Given the description of an element on the screen output the (x, y) to click on. 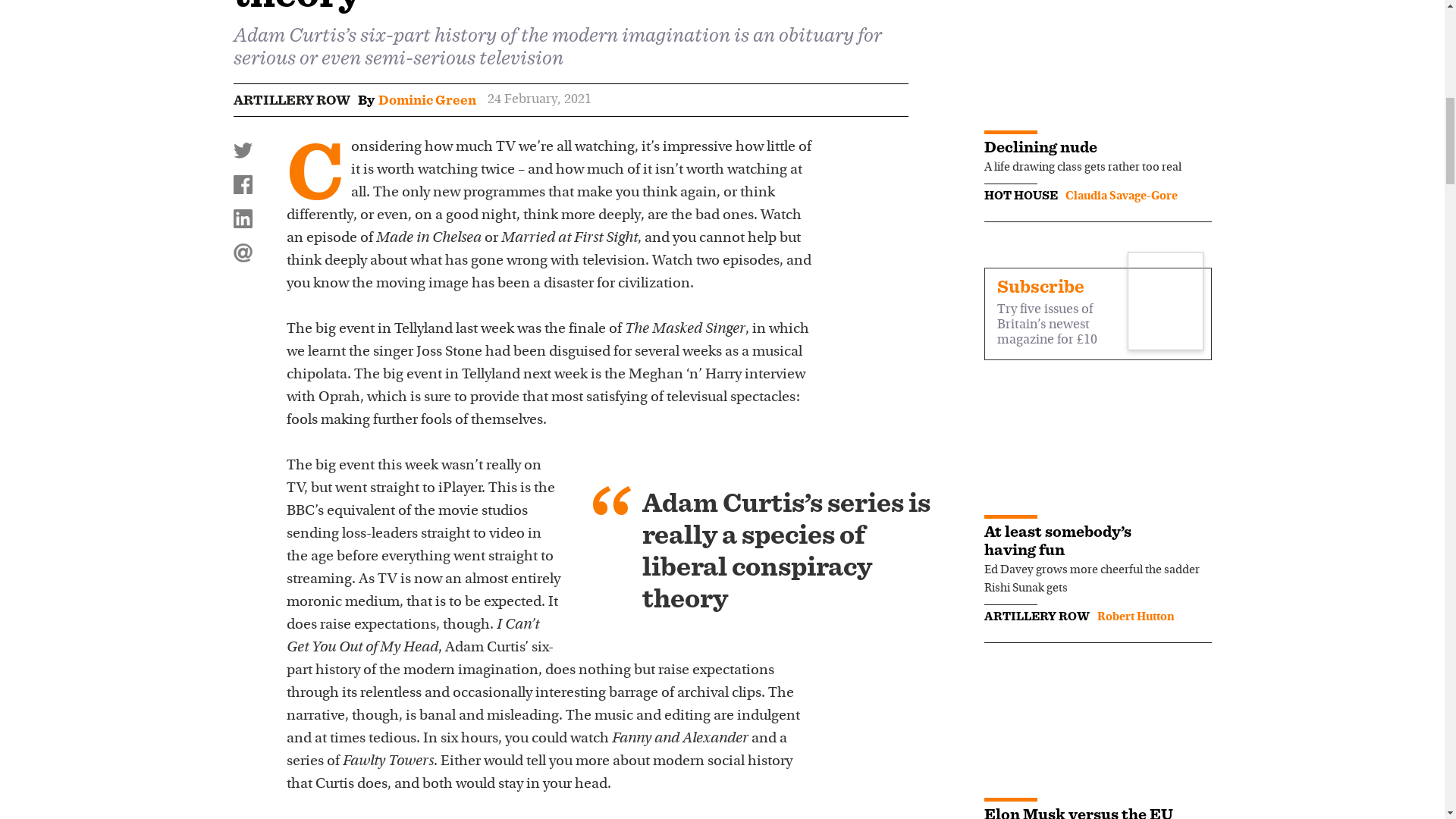
Posts by Robert Hutton (1134, 616)
Dominic Green (426, 99)
Posts by Claudia Savage-Gore (1120, 196)
ARTILLERY ROW (291, 99)
Posts by Dominic Green (426, 99)
